Given the description of an element on the screen output the (x, y) to click on. 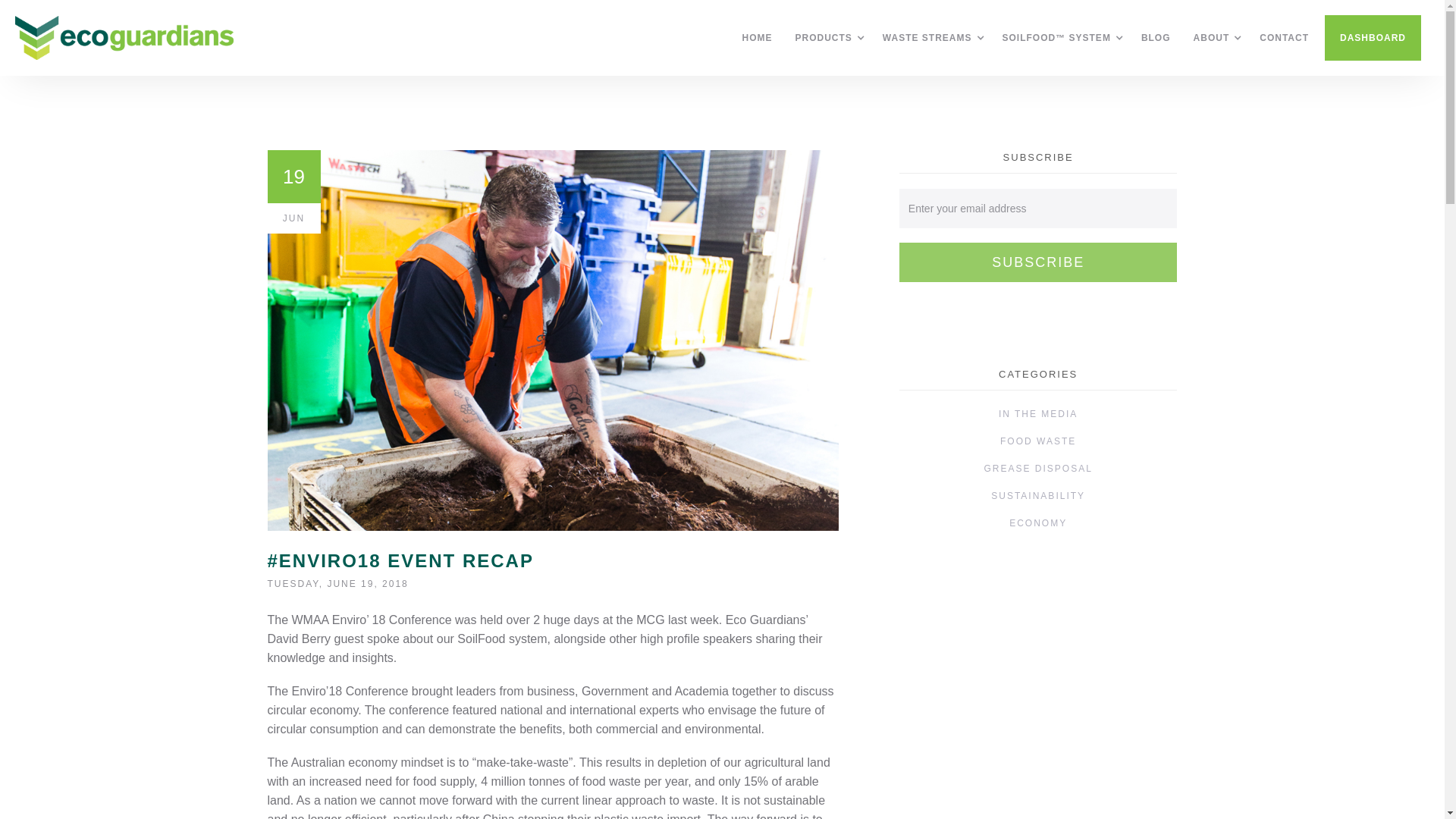
SUBSCRIBE Element type: text (1038, 262)
CONTACT Element type: text (1280, 37)
DASHBOARD Element type: text (1372, 37)
BLOG Element type: text (1152, 37)
GREASE DISPOSAL Element type: text (1037, 468)
SUSTAINABILITY Element type: text (1038, 495)
ECONOMY Element type: text (1037, 522)
IN THE MEDIA Element type: text (1037, 413)
HOME Element type: text (753, 37)
FOOD WASTE Element type: text (1038, 440)
